Given the description of an element on the screen output the (x, y) to click on. 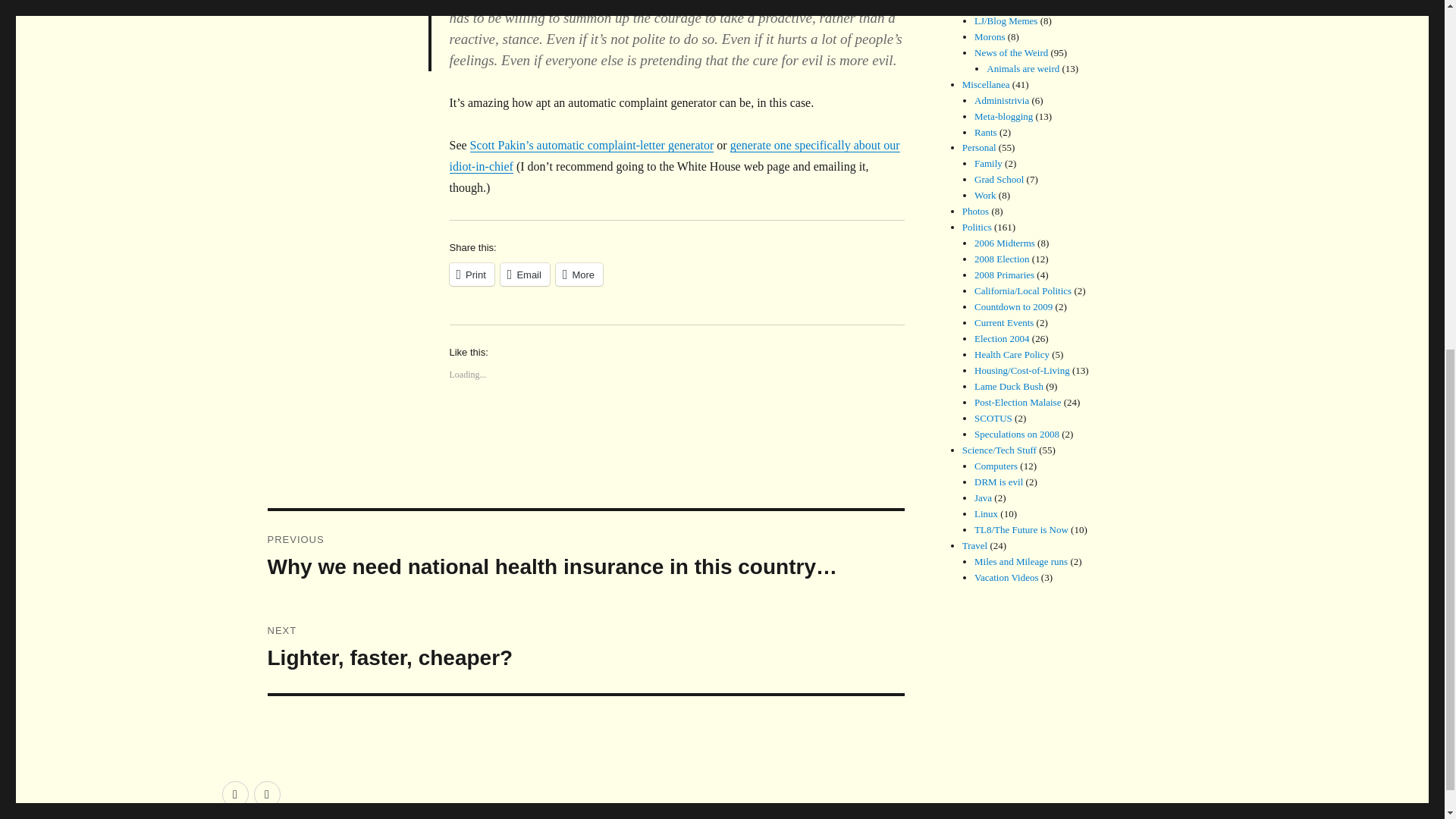
Click to email a link to a friend (525, 273)
More (579, 273)
generate one specifically about our idiot-in-chief (673, 155)
Click to print (470, 273)
Print (585, 646)
Email (470, 273)
